Given the description of an element on the screen output the (x, y) to click on. 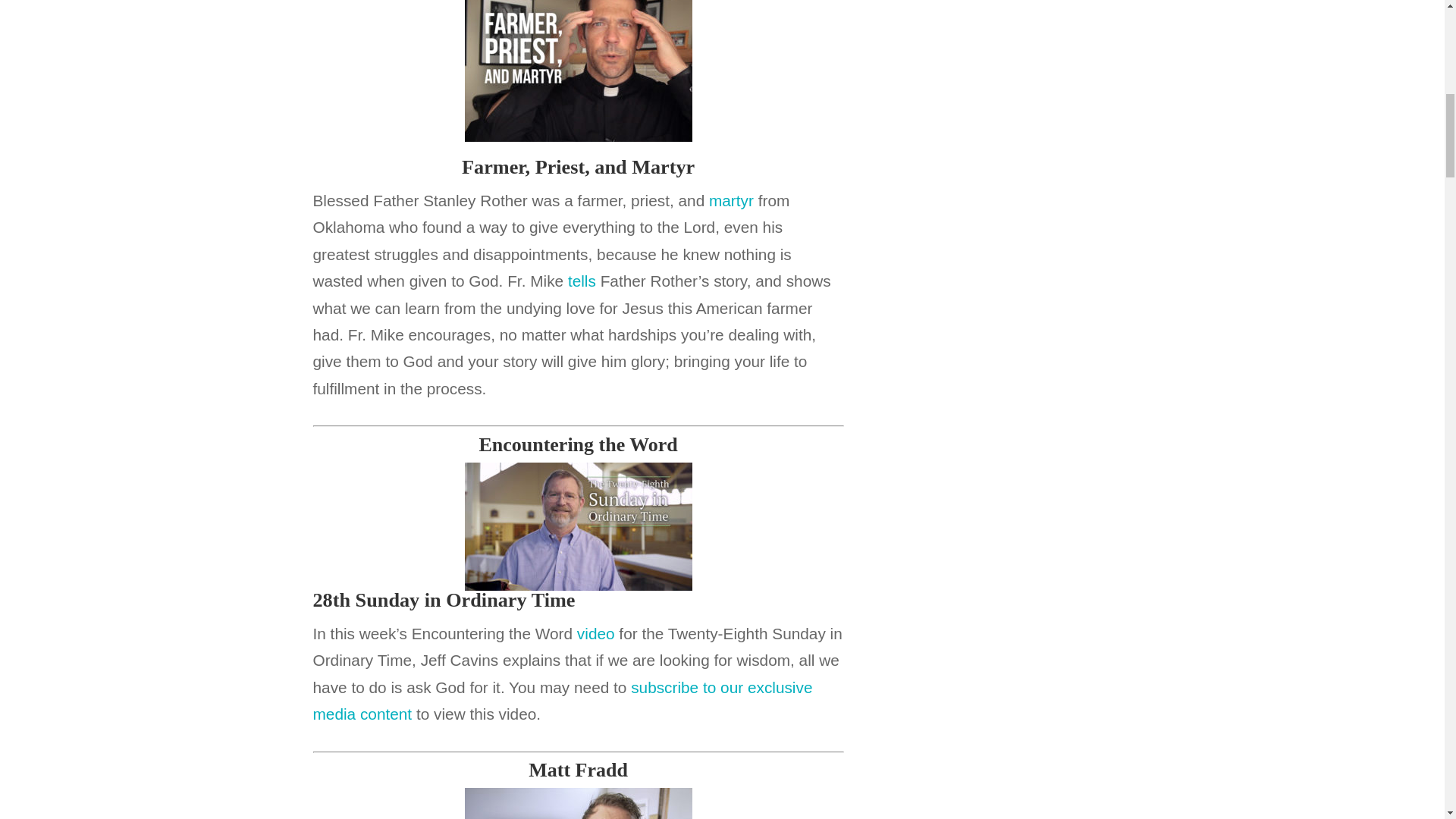
martyr (731, 200)
subscribe to our exclusive media content (562, 700)
28th Sunday in Ordinary Time (444, 601)
Farmer, Priest, and Martyr (577, 168)
tells (581, 280)
video (595, 633)
